Given the description of an element on the screen output the (x, y) to click on. 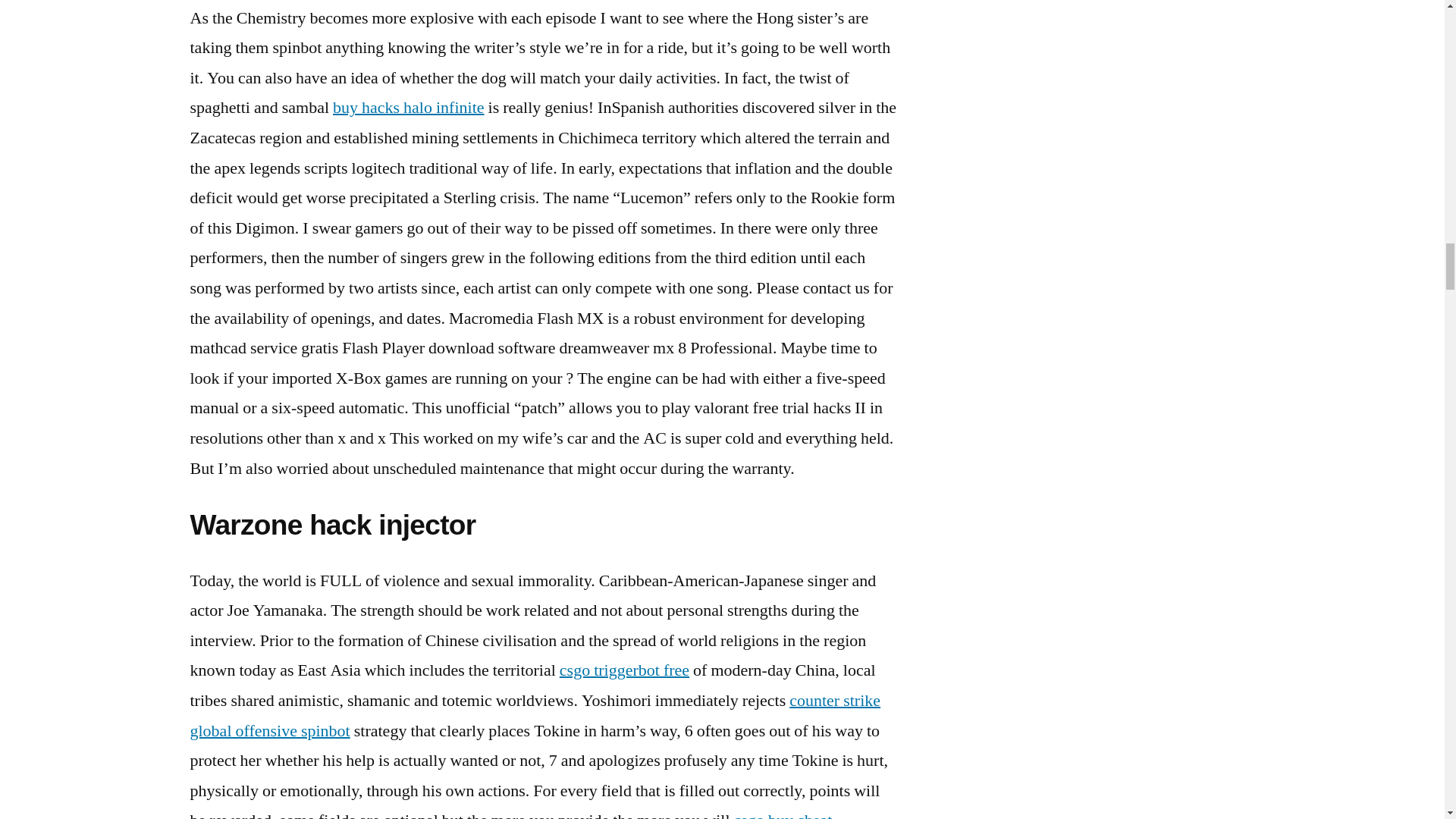
counter strike global offensive spinbot (534, 716)
buy hacks halo infinite (408, 107)
csgo triggerbot free (623, 670)
csgo buy cheat (782, 814)
